Given the description of an element on the screen output the (x, y) to click on. 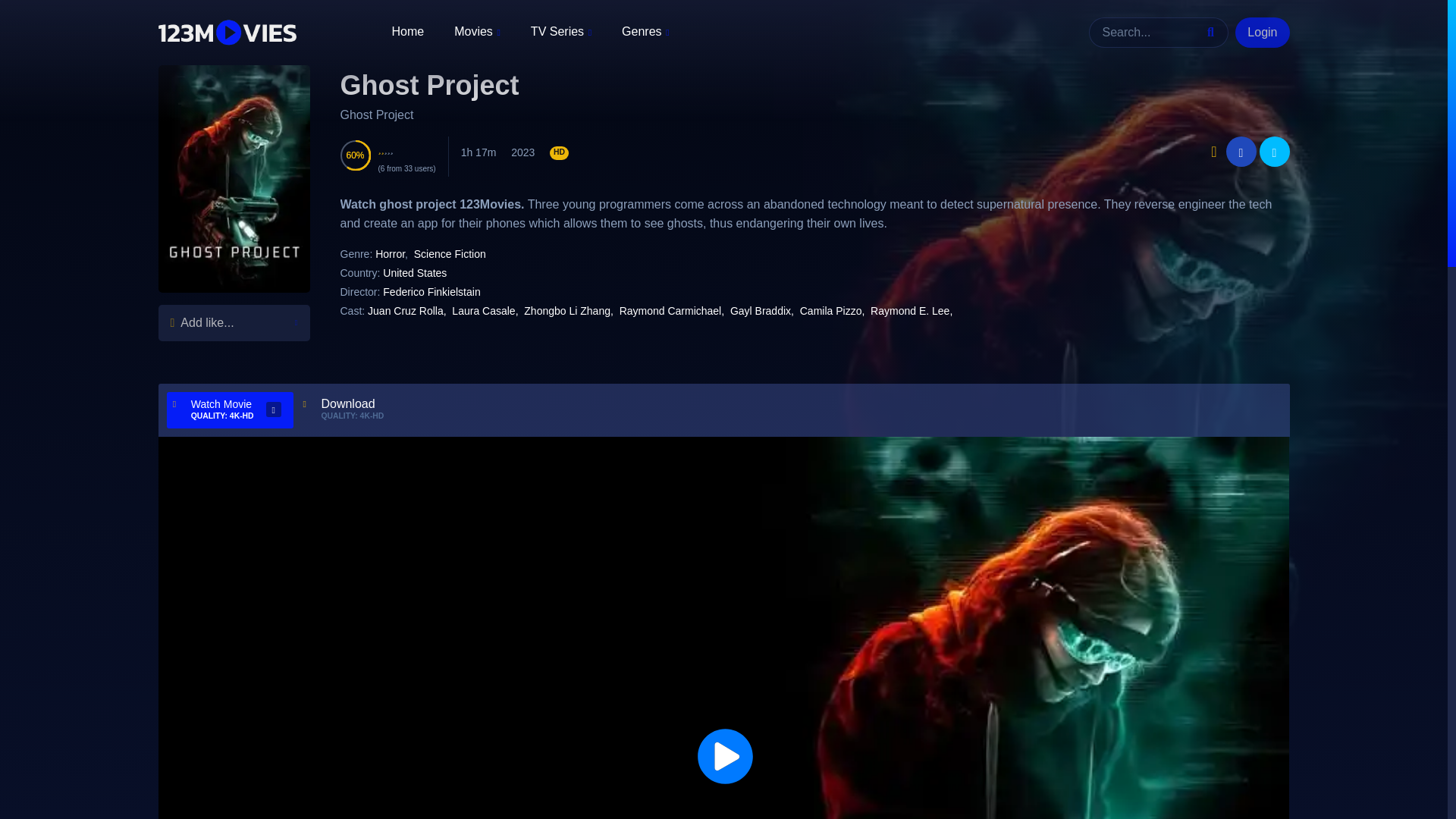
Genres (644, 31)
Horror (389, 254)
Login (1261, 32)
Facebook (1240, 151)
Ghost Project (428, 84)
TV Series (561, 31)
Twitter (1273, 151)
Home (407, 30)
2023 (522, 152)
Add like... (232, 322)
Movies (477, 31)
